Given the description of an element on the screen output the (x, y) to click on. 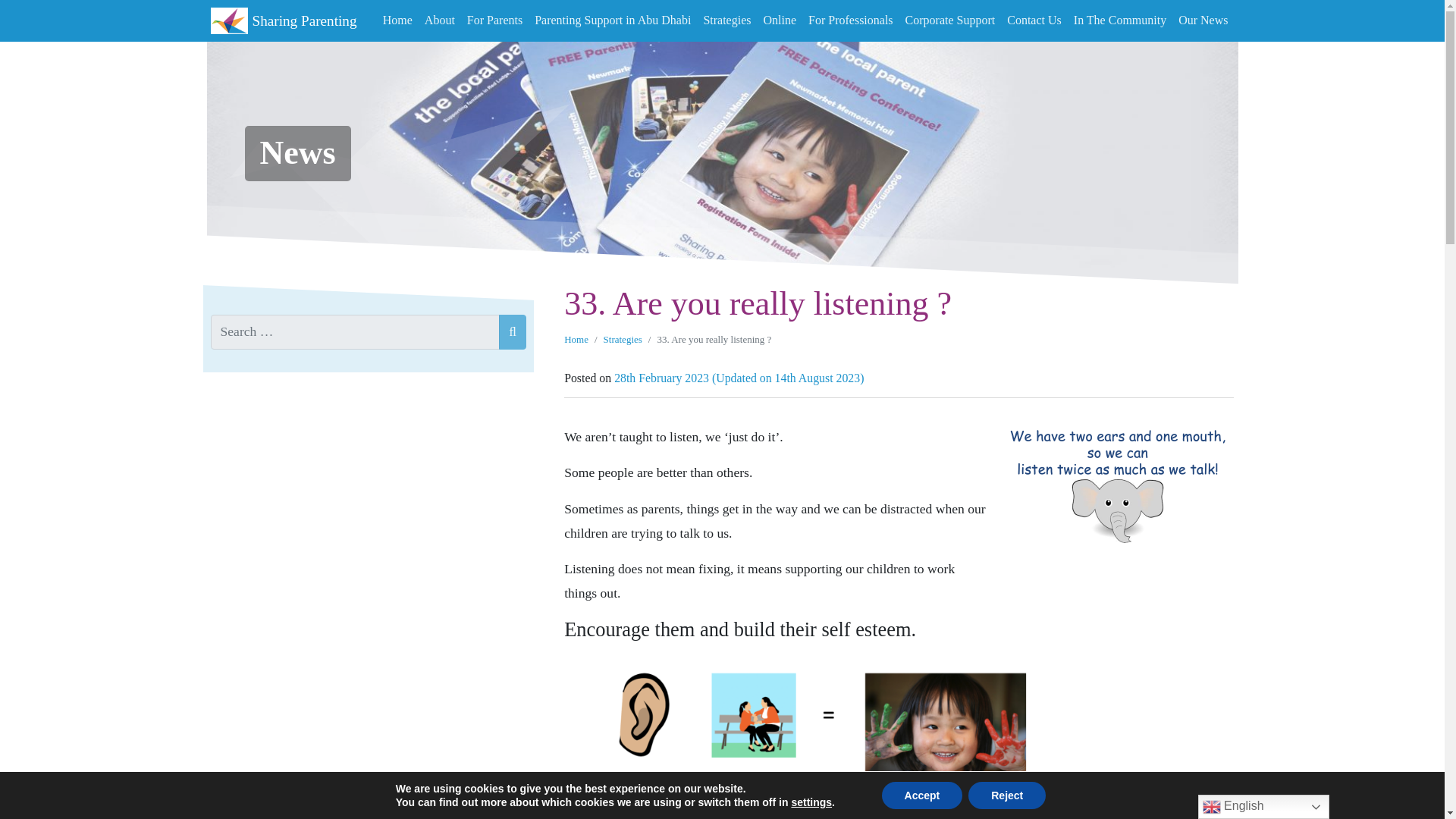
English (1263, 806)
Online (779, 20)
Parenting Support in Abu Dhabi (612, 20)
Online (779, 20)
About (440, 20)
Contact Us (1034, 20)
About (440, 20)
Strategies (727, 20)
Home (576, 338)
Strategies (623, 338)
Corporate Support (950, 20)
Our News (1202, 20)
Corporate Support (950, 20)
Contact Us (1034, 20)
Parenting Support in Abu Dhabi (612, 20)
